Given the description of an element on the screen output the (x, y) to click on. 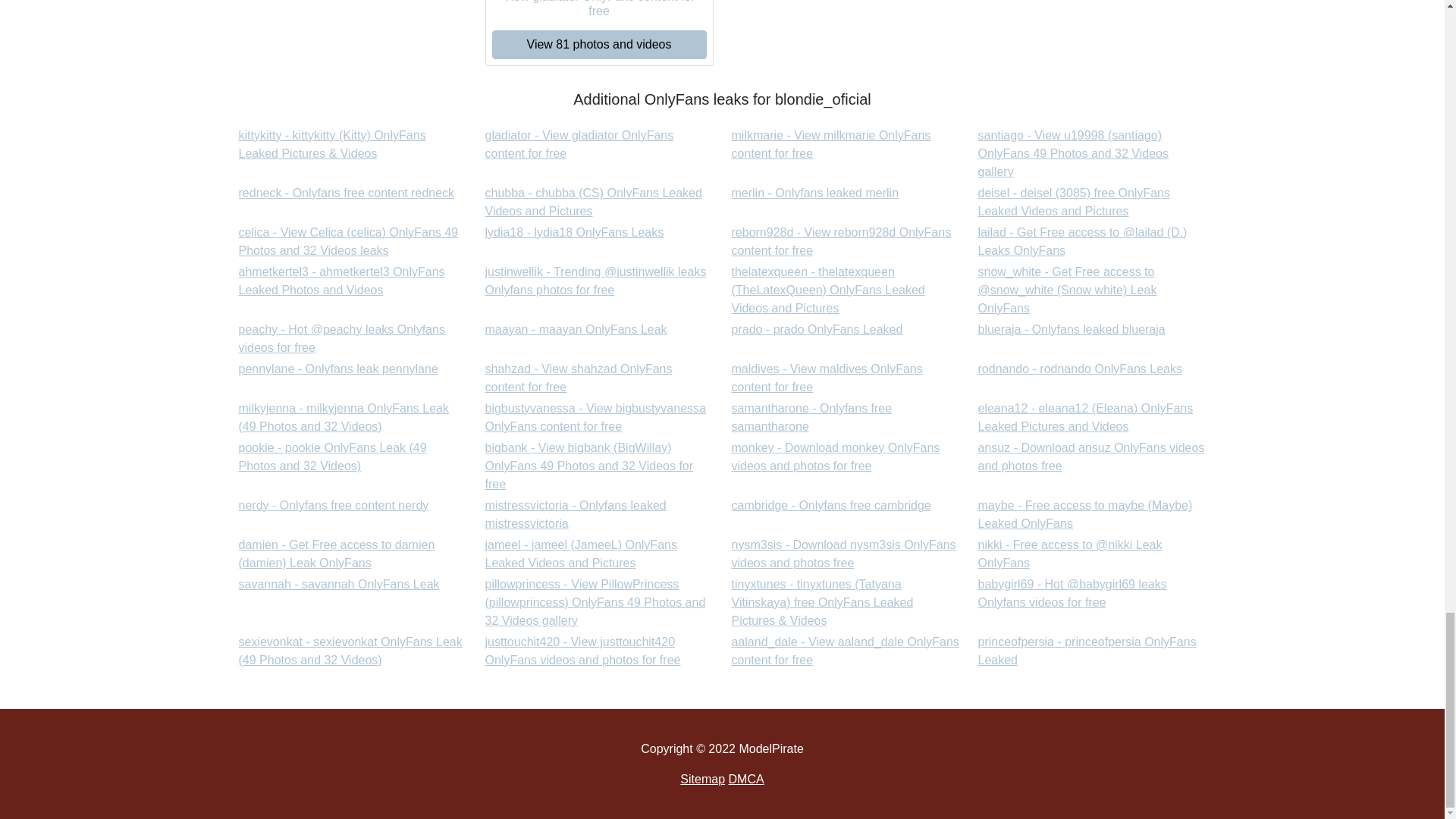
milkmarie - View milkmarie OnlyFans content for free (830, 143)
gladiator - View gladiator OnlyFans content for free (830, 143)
merlin - Onlyfans leaked merlin (1072, 328)
reborn928d - View reborn928d OnlyFans content for free (341, 280)
lydia18 - lydia18 OnlyFans Leaks (816, 328)
